Given the description of an element on the screen output the (x, y) to click on. 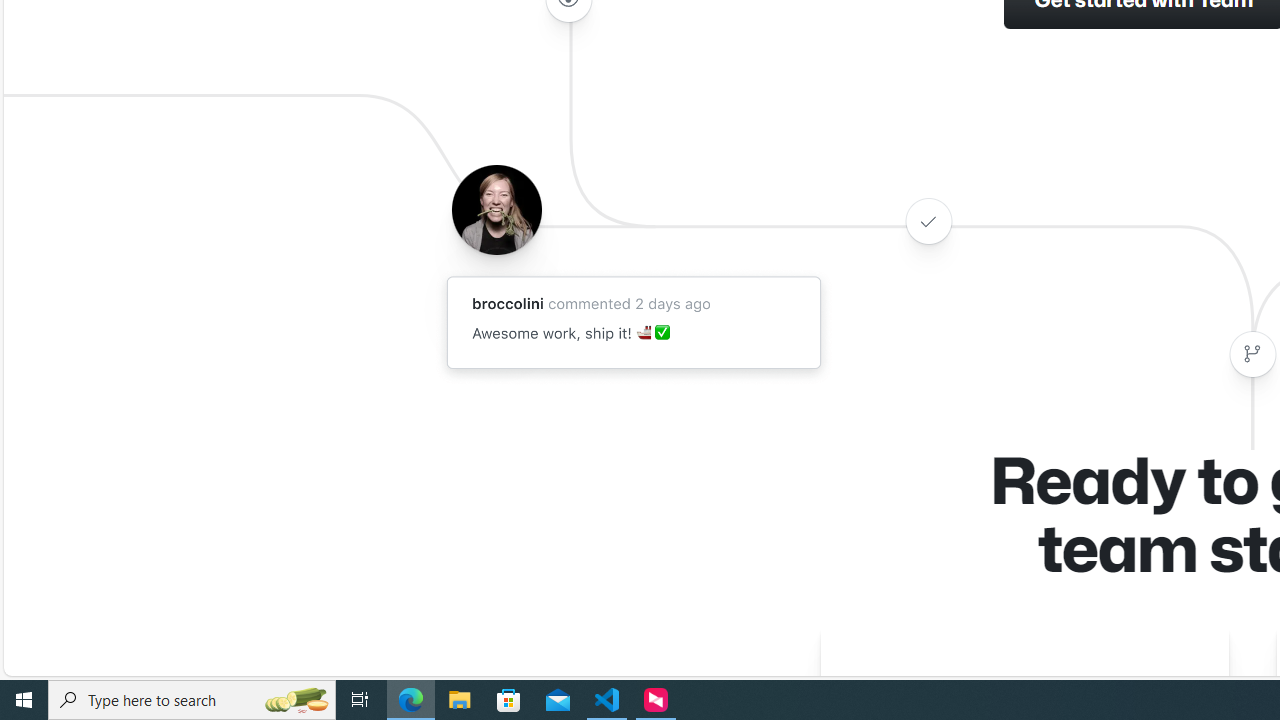
Class: color-fg-muted width-full (1252, 354)
Avatar of the user broccolini (495, 209)
